Given the description of an element on the screen output the (x, y) to click on. 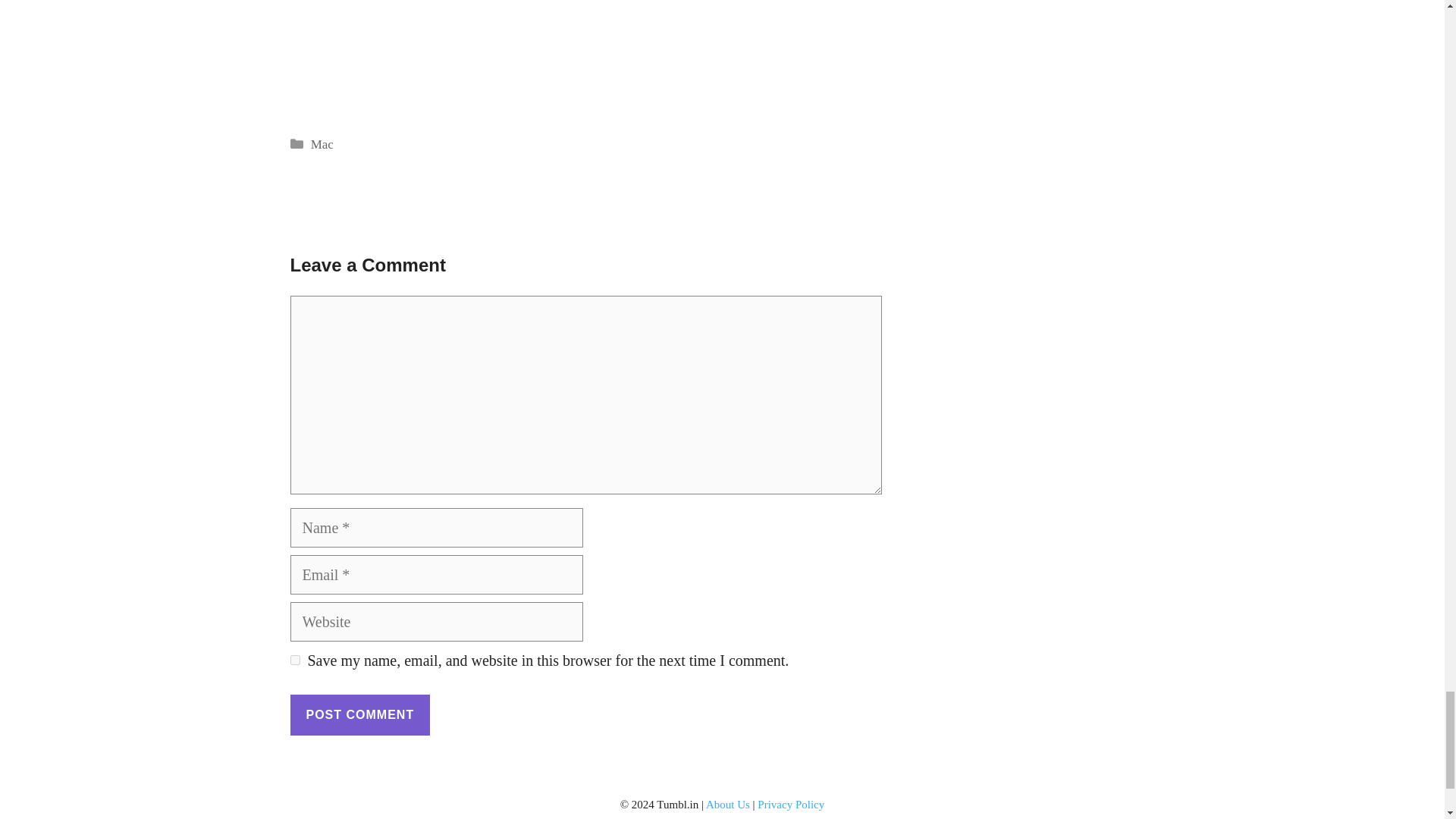
Post Comment (359, 714)
yes (294, 660)
Mac (322, 144)
Post Comment (359, 714)
